Given the description of an element on the screen output the (x, y) to click on. 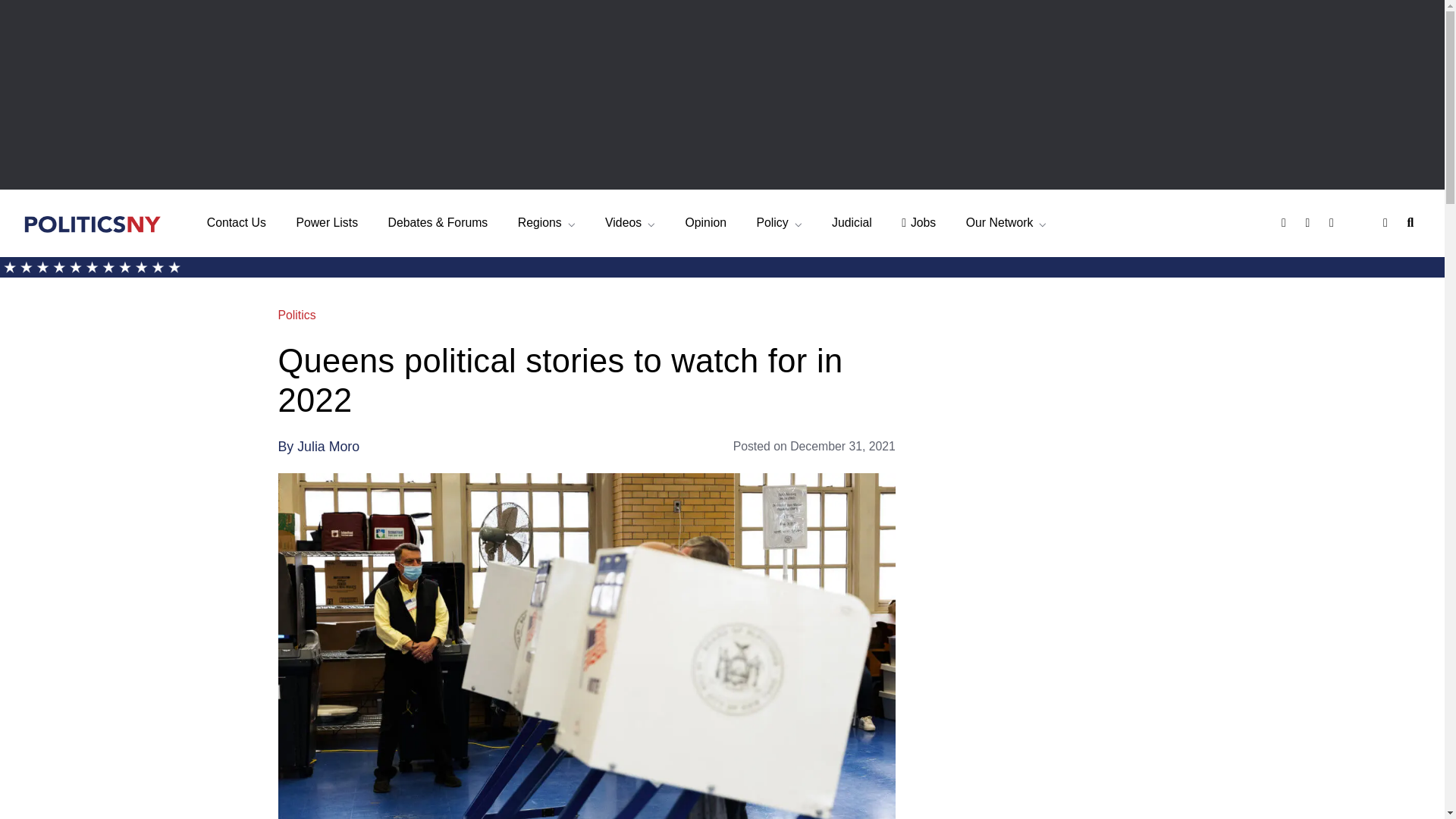
3rd party ad content (1052, 789)
Power Lists (326, 222)
Regions (546, 222)
Facebook (1285, 222)
Opinion (705, 222)
Judicial (851, 222)
Instagram (1333, 222)
3rd party ad content (721, 94)
Contact Us (236, 222)
3rd party ad content (1052, 627)
Twitter (1310, 222)
Our Network (1006, 222)
Videos (630, 222)
Jobs (918, 222)
Policy (778, 222)
